Given the description of an element on the screen output the (x, y) to click on. 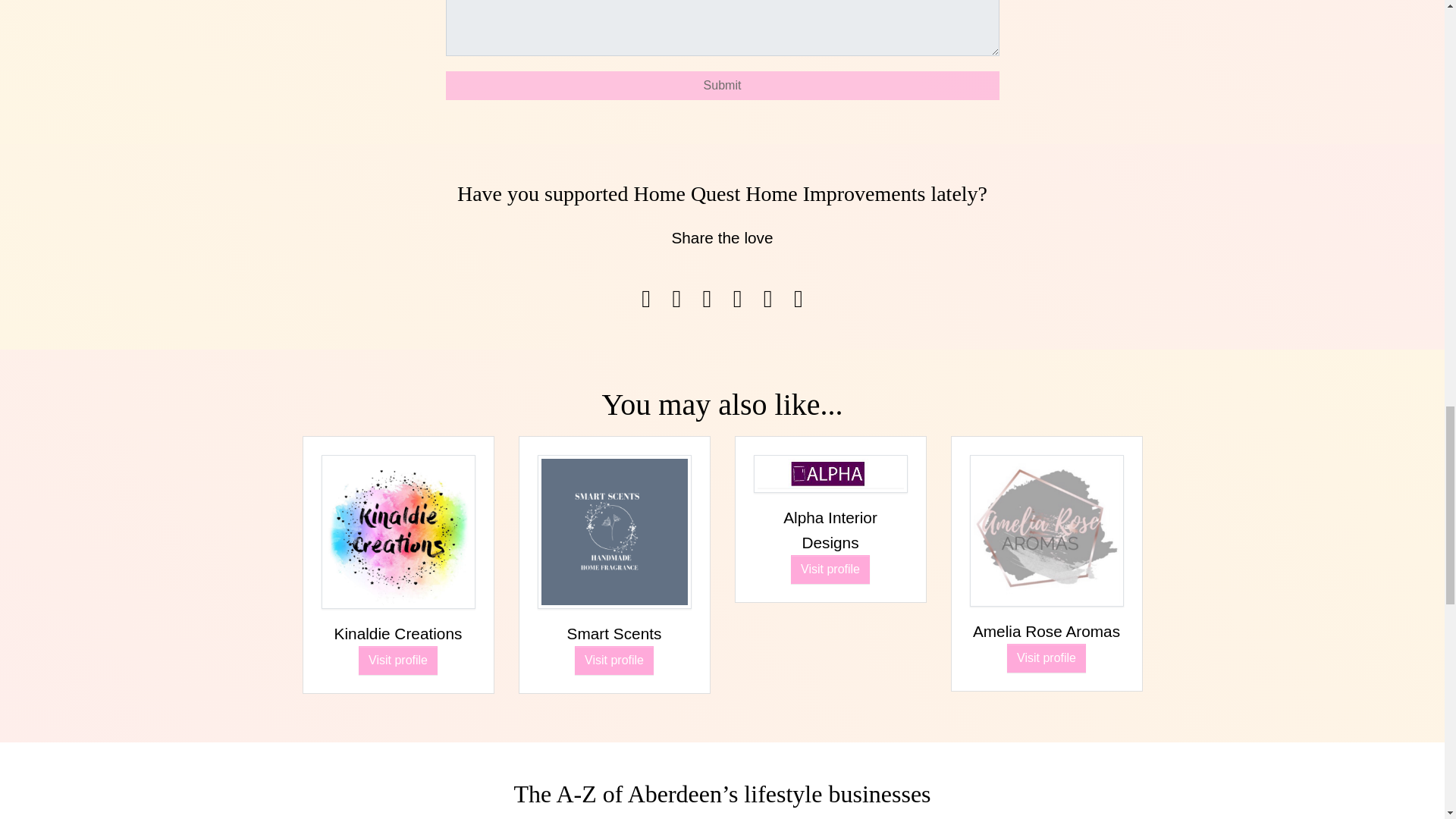
Visit profile (398, 660)
Submit (721, 85)
Kinaldie Creations (398, 642)
